Given the description of an element on the screen output the (x, y) to click on. 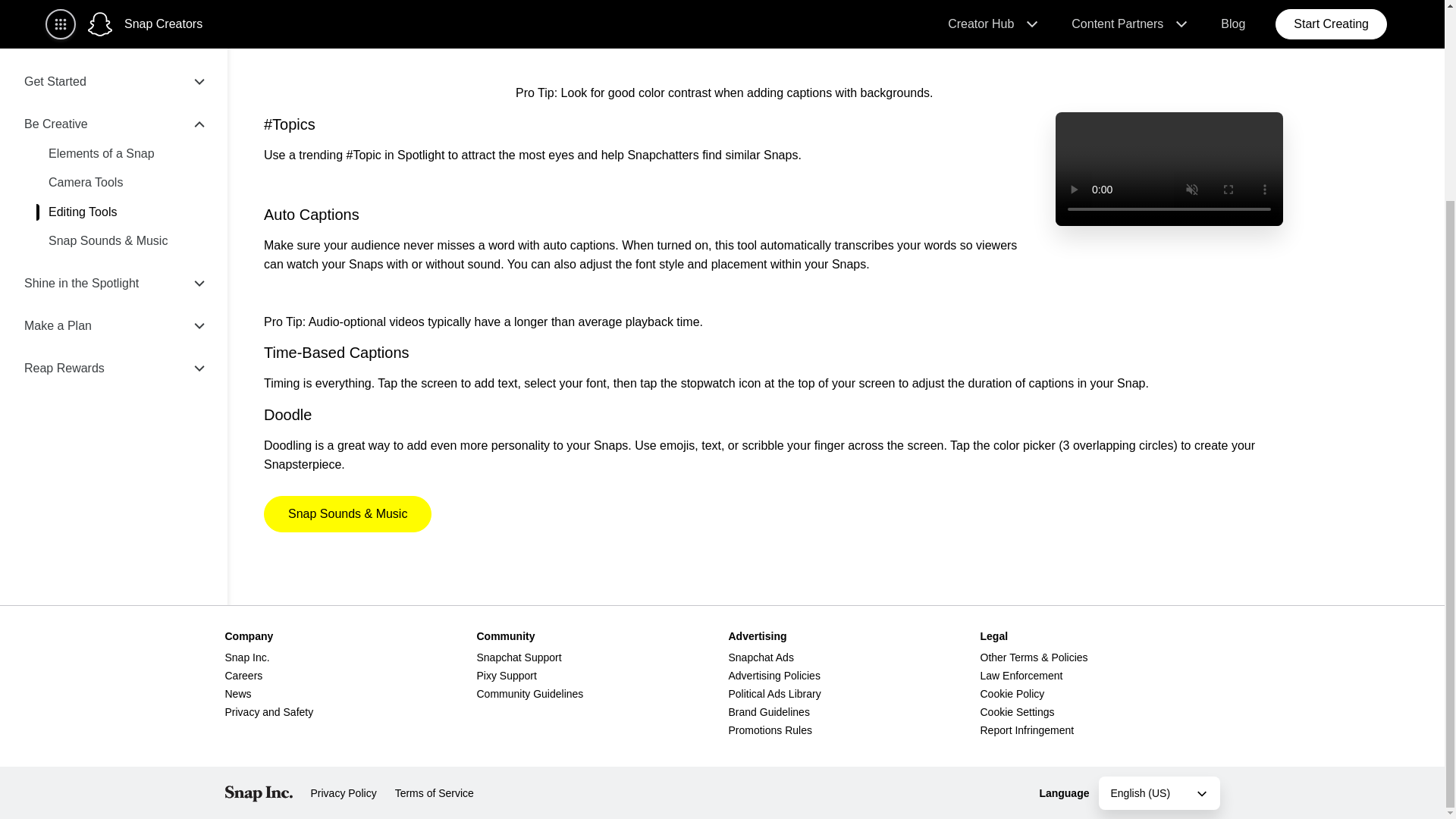
Shine in the Spotlight (113, 27)
Make a Plan (113, 69)
Reap Rewards (113, 112)
